Given the description of an element on the screen output the (x, y) to click on. 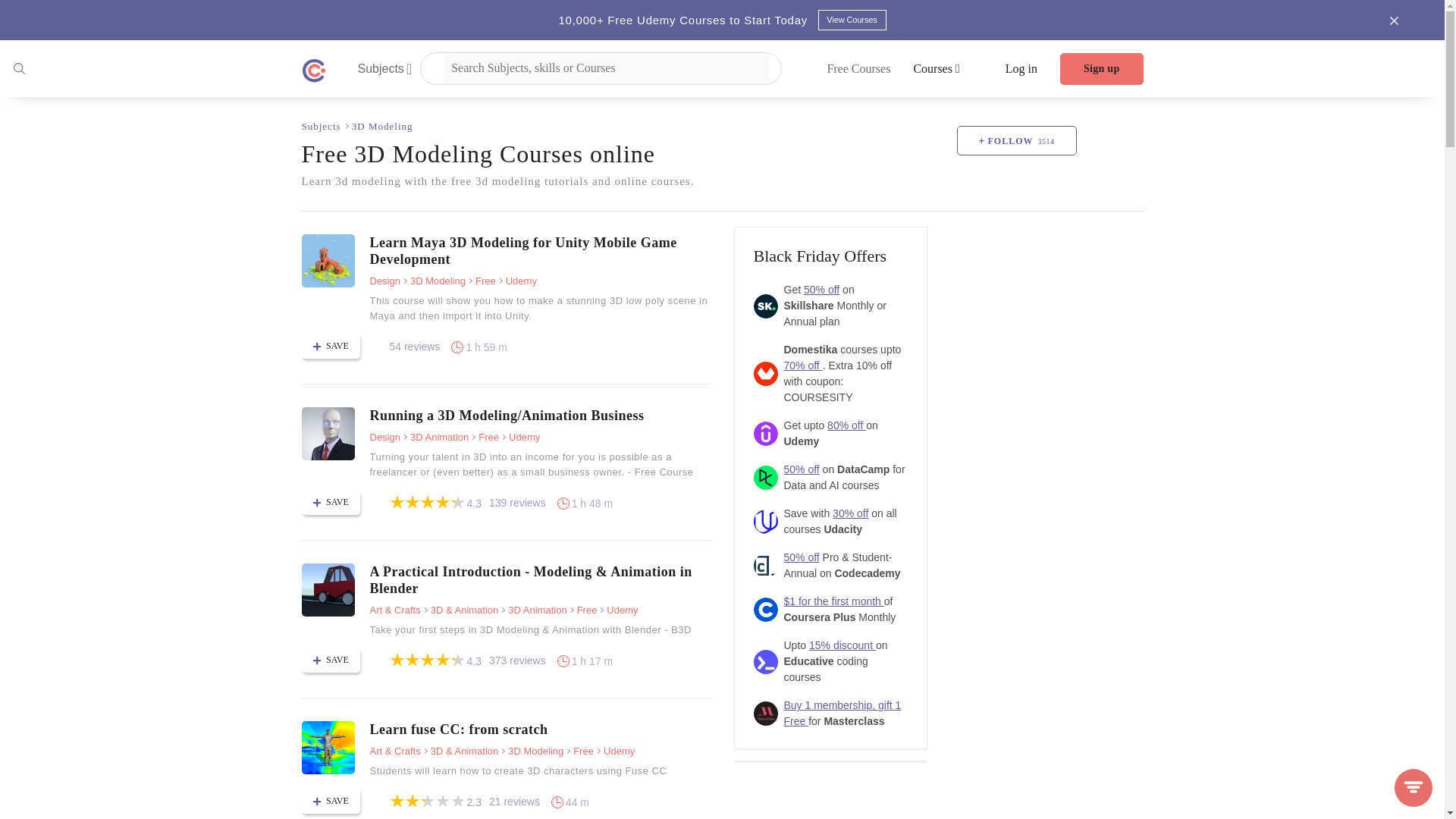
Learn Maya 3D Modeling for Unity Mobile Game Development (540, 250)
Free (484, 437)
Free Courses (858, 68)
Submit the search query. (18, 67)
Free (481, 280)
Learn fuse CC: from scratch (328, 747)
Learn fuse CC: from scratch (540, 729)
Udemy (520, 437)
Learn Maya 3D Modeling for Unity Mobile Game Development (328, 260)
Subjects (322, 125)
